Given the description of an element on the screen output the (x, y) to click on. 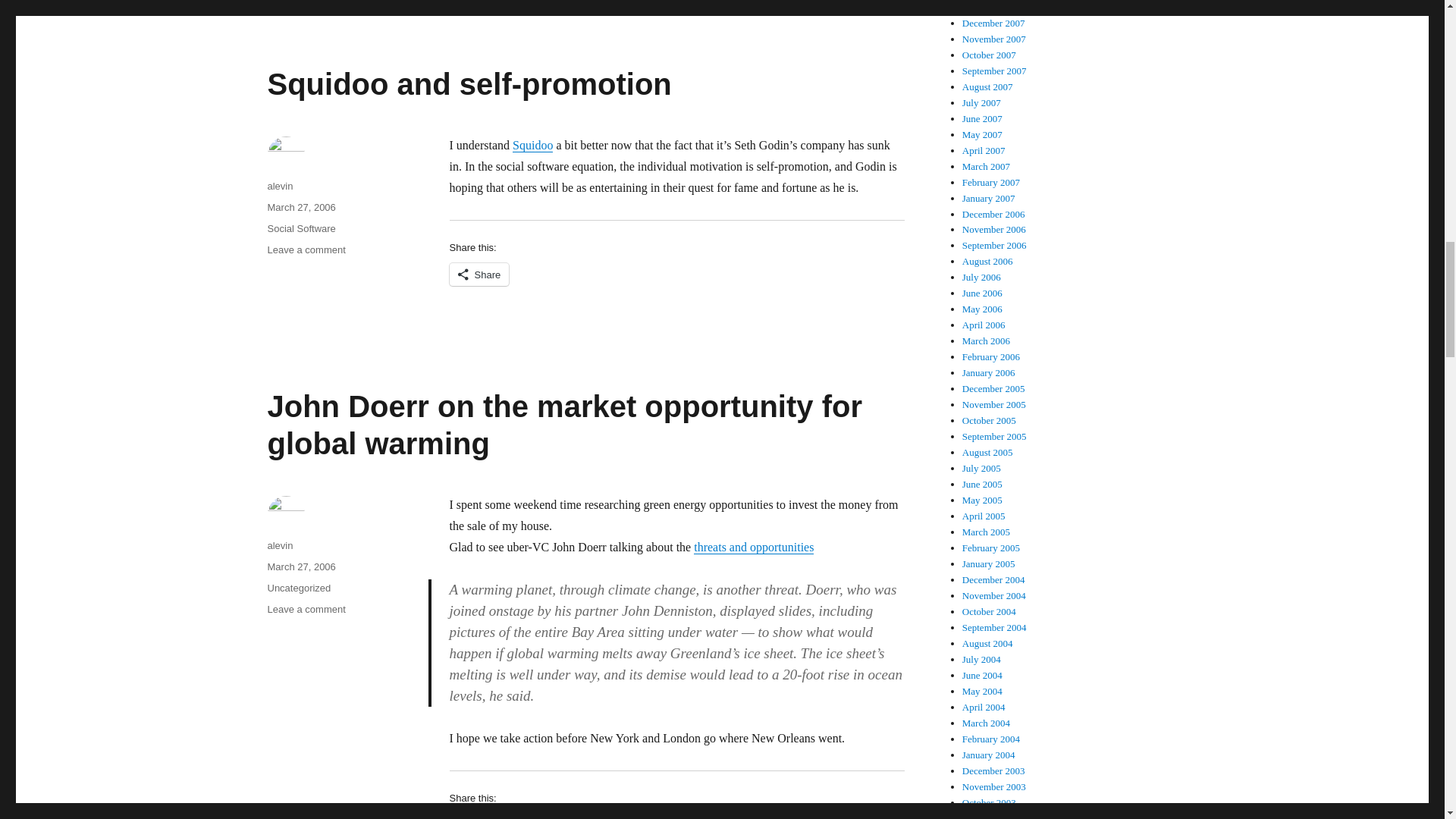
Squidoo and self-promotion (468, 83)
Share (478, 273)
Squidoo (532, 144)
March 27, 2006 (300, 206)
alevin (279, 185)
Social Software (300, 228)
